Given the description of an element on the screen output the (x, y) to click on. 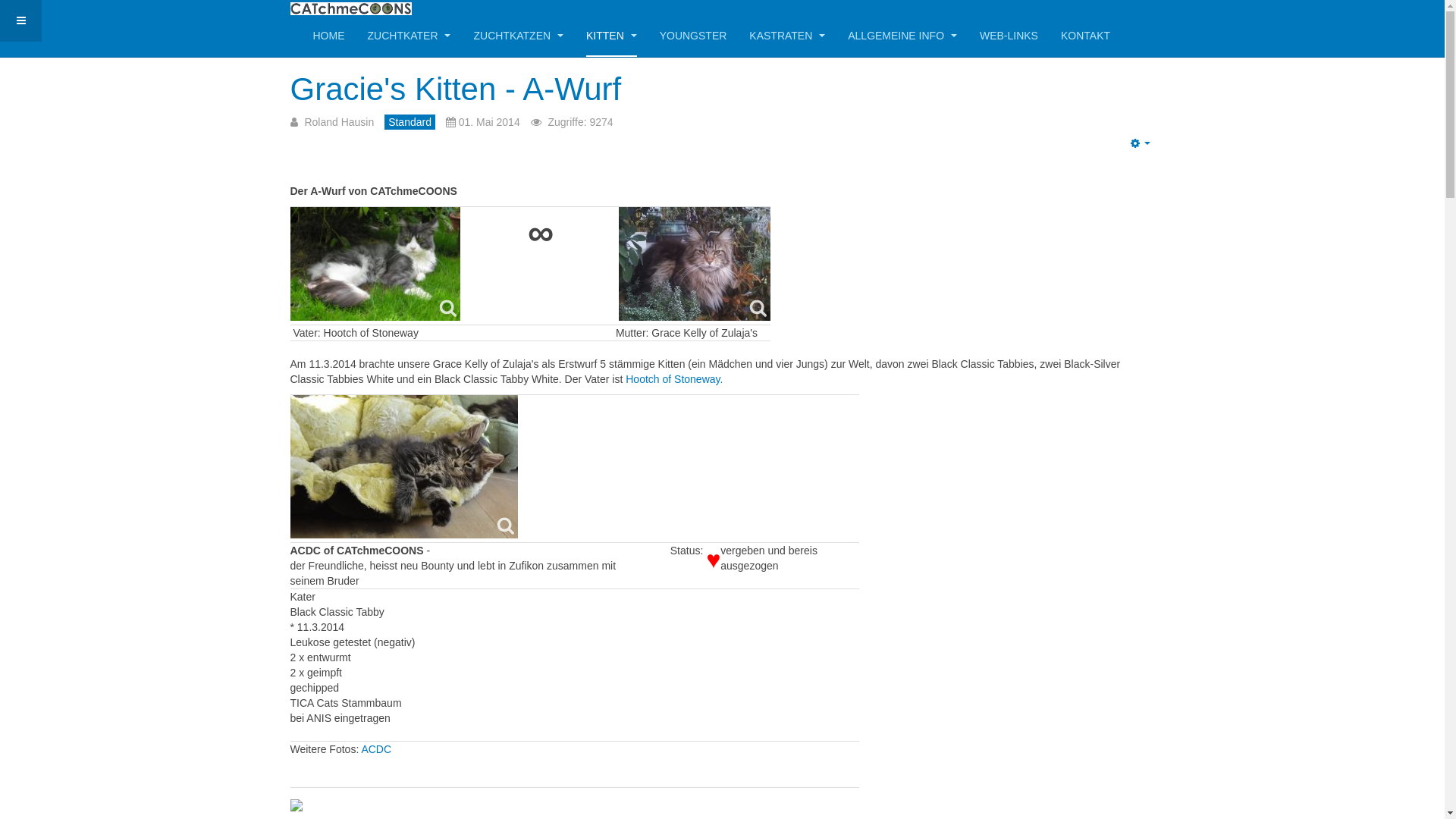
Empty Element type: text (1140, 143)
KASTRATEN Element type: text (787, 35)
ACDC Element type: text (375, 749)
ZUCHTKATER Element type: text (408, 35)
CATchmeCOONS Element type: hover (350, 8)
YOUNGSTER Element type: text (693, 35)
Gracie's Kitten - A-Wurf Element type: text (455, 88)
HOME Element type: text (328, 35)
ALLGEMEINE INFO Element type: text (902, 35)
KONTAKT Element type: text (1085, 35)
Hootch of Stoneway. Element type: text (673, 379)
ZUCHTKATZEN Element type: text (518, 35)
WEB-LINKS Element type: text (1008, 35)
Standard Element type: text (409, 121)
KITTEN Element type: text (611, 35)
